Given the description of an element on the screen output the (x, y) to click on. 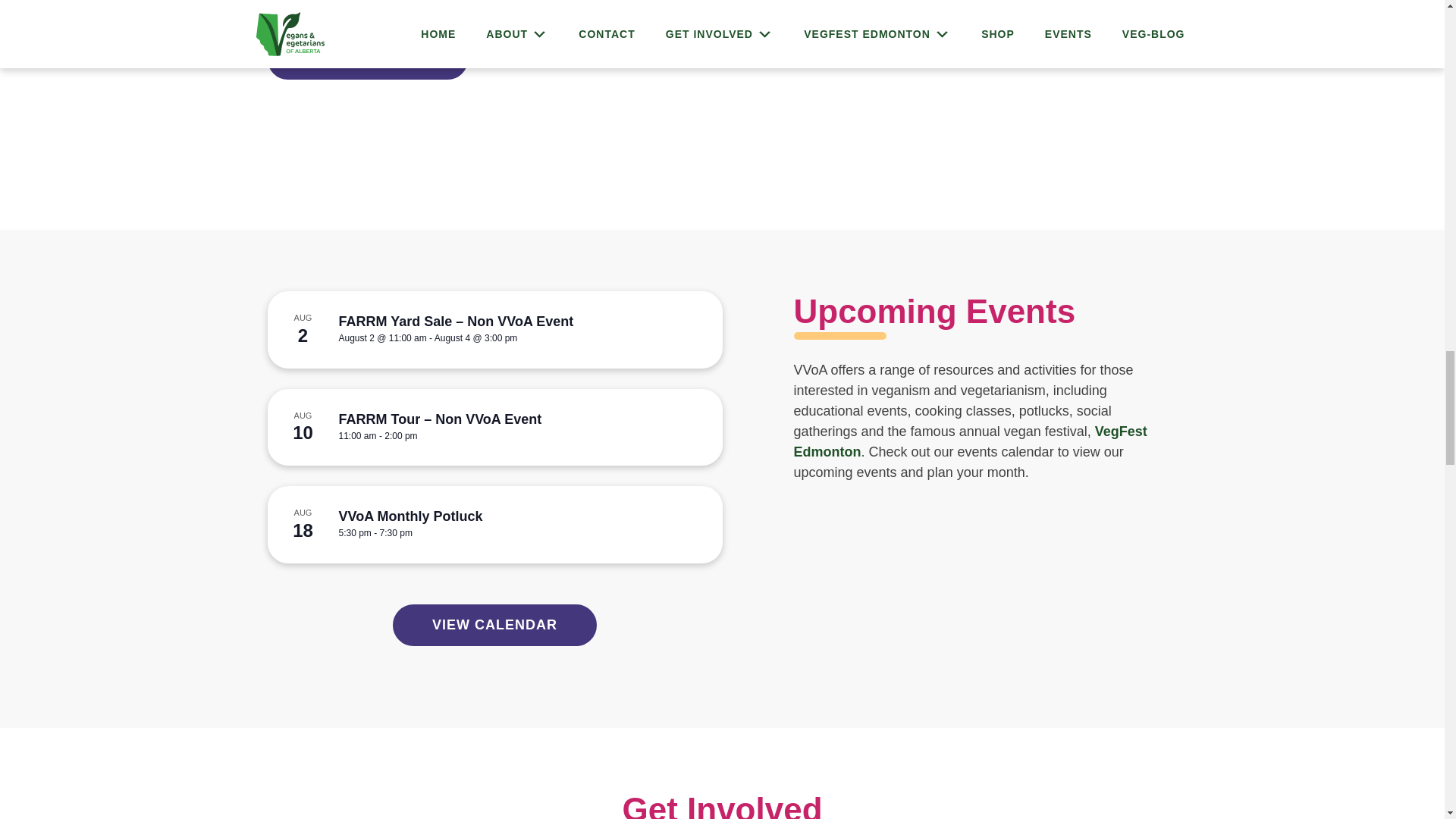
MEET THE TEAM (366, 59)
VVoA Monthly Potluck (409, 516)
VIEW CALENDAR (494, 625)
VVoA Monthly Potluck (409, 516)
View more events. (494, 625)
VegFest Edmonton (970, 441)
